Given the description of an element on the screen output the (x, y) to click on. 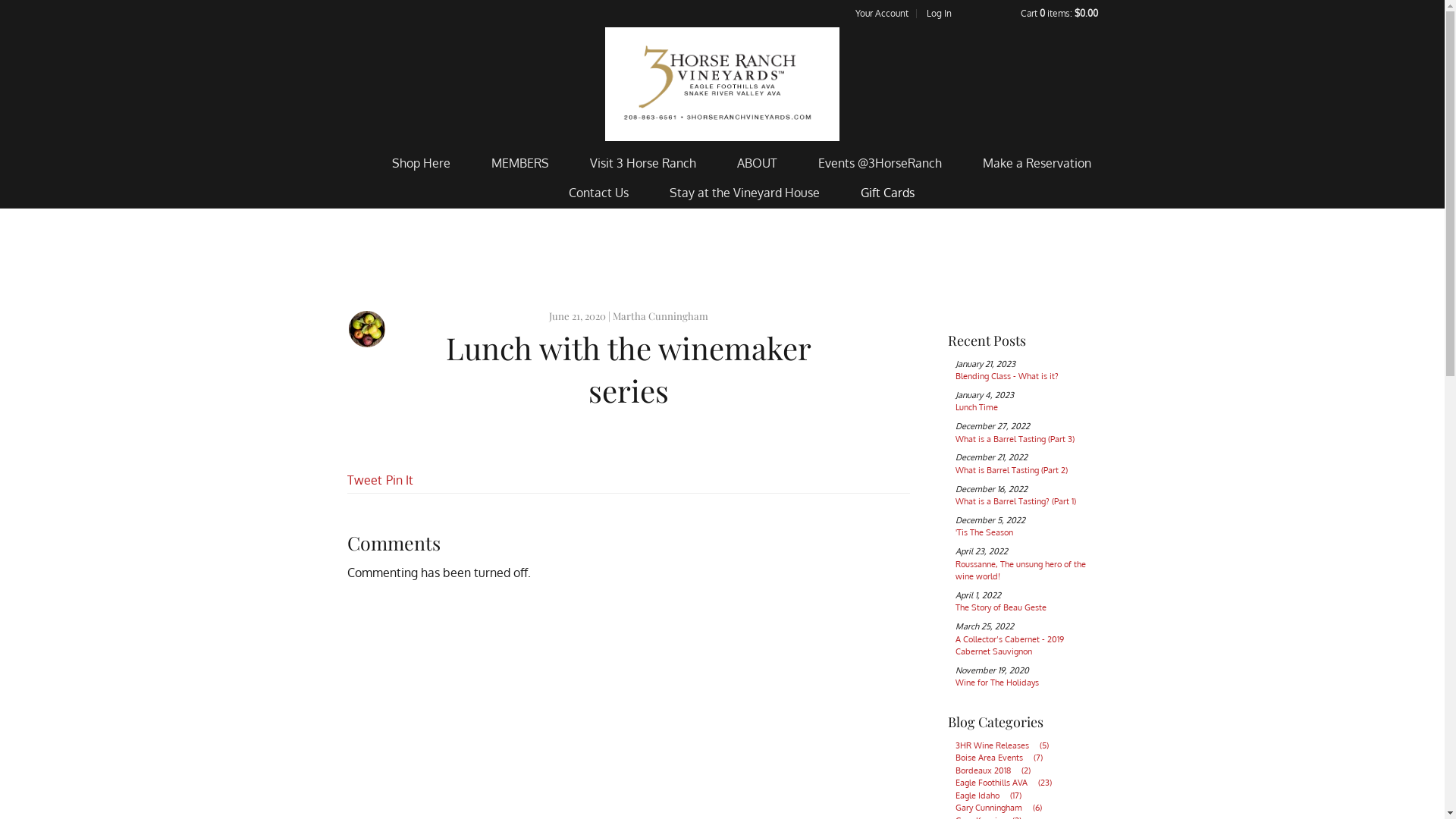
Eagle Idaho (17) Element type: text (992, 795)
Wine for The Holidays Element type: text (996, 682)
Events @3HorseRanch Element type: text (879, 163)
Blending Class - What is it? Element type: text (1006, 375)
What is a Barrel Tasting? (Part 1) Element type: text (1015, 500)
Gift Cards Element type: text (886, 192)
Roussanne, The unsung hero of the wine world! Element type: text (1020, 570)
ABOUT Element type: text (757, 163)
Cart 0 items: $0.00 Element type: text (1059, 12)
MEMBERS Element type: text (520, 163)
Lunch Time Element type: text (976, 406)
Boise Area Events (7) Element type: text (1003, 757)
Pin It Element type: text (398, 479)
Eagle Foothills AVA (23) Element type: text (1007, 782)
Your Account Element type: text (881, 12)
Contact Us Element type: text (598, 192)
3 Horse Ranch Vineyards Element type: text (722, 84)
The Story of Beau Geste Element type: text (1000, 607)
'Tis The Season Element type: text (984, 532)
Visit 3 Horse Ranch Element type: text (642, 163)
3HR Wine Releases (5) Element type: text (1006, 745)
Tweet Element type: text (364, 479)
Gary Cunningham (6) Element type: text (1002, 807)
Make a Reservation Element type: text (1036, 163)
Stay at the Vineyard House Element type: text (743, 192)
Bordeaux 2018 (2) Element type: text (996, 770)
Shop Here Element type: text (420, 163)
What is a Barrel Tasting (Part 3) Element type: text (1014, 438)
Log In Element type: text (938, 12)
What is Barrel Tasting (Part 2) Element type: text (1011, 469)
